Given the description of an element on the screen output the (x, y) to click on. 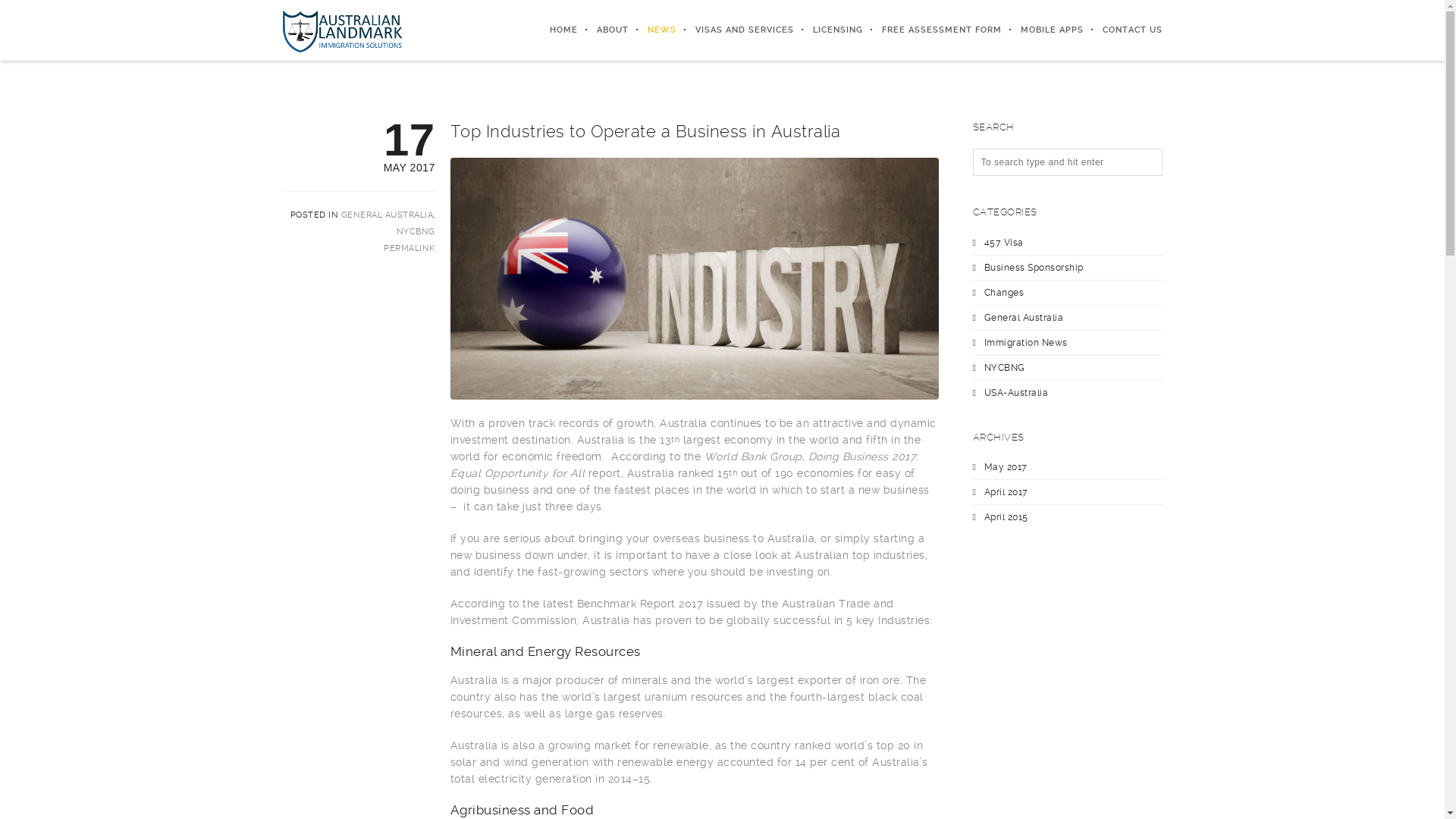
Changes Element type: text (1004, 291)
Search for: Element type: hover (1066, 161)
CONTACT US Element type: text (1121, 30)
NYCBNG Element type: text (415, 231)
Migrate to Australia Element type: hover (341, 30)
USA-Australia Element type: text (1016, 391)
MOBILE APPS Element type: text (1041, 30)
Business Sponsorship Element type: text (1033, 267)
April 2017 Element type: text (1006, 491)
NEWS Element type: text (651, 30)
NYCBNG Element type: text (1004, 367)
Immigration News Element type: text (1025, 341)
457 Visa Element type: text (1003, 241)
HOME Element type: text (553, 30)
April 2015 Element type: text (1006, 516)
FREE ASSESSMENT FORM Element type: text (931, 30)
LICENSING Element type: text (827, 30)
PERMALINK Element type: text (409, 248)
Search Element type: text (28, 11)
ABOUT Element type: text (602, 30)
May 2017 Element type: text (1005, 466)
VISAS AND SERVICES Element type: text (734, 30)
General Australia Element type: text (1023, 317)
GENERAL AUSTRALIA Element type: text (387, 214)
